Given the description of an element on the screen output the (x, y) to click on. 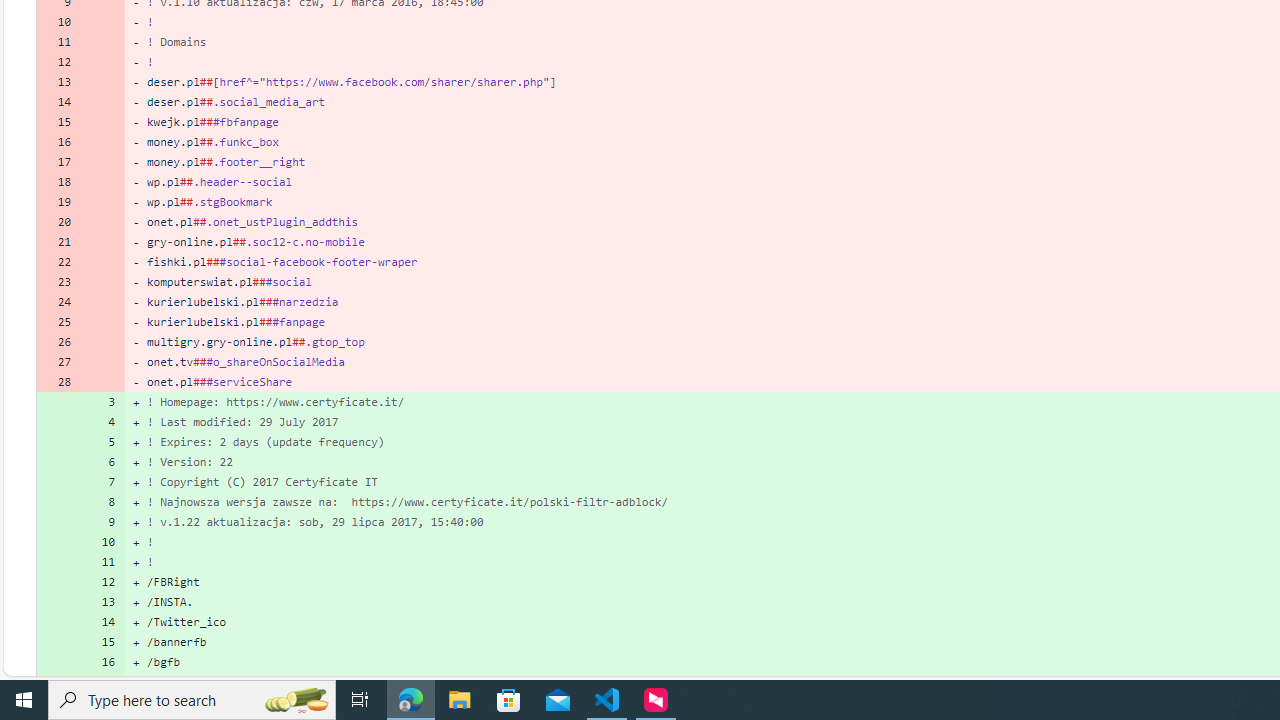
22 (58, 261)
8 (102, 501)
25 (58, 321)
Class: blob-num blob-num-addition empty-cell (58, 681)
18 (58, 182)
7 (102, 481)
16 (102, 661)
14 (102, 622)
28 (58, 381)
3 (102, 401)
10 (102, 542)
13 (102, 601)
4 (102, 421)
5 (102, 442)
27 (58, 362)
